Given the description of an element on the screen output the (x, y) to click on. 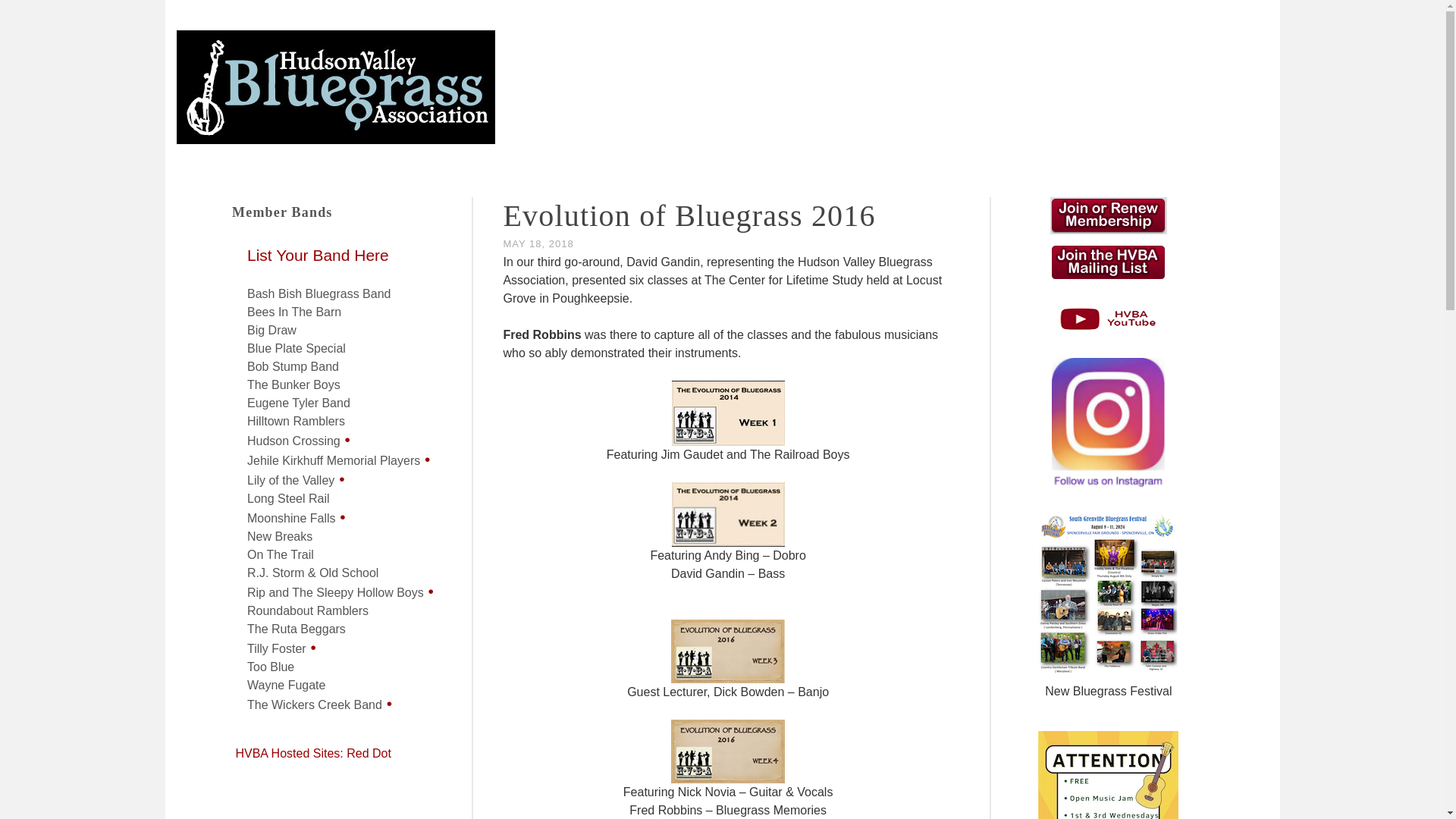
Media (657, 196)
About HVBA (944, 196)
Home (435, 196)
Membership (748, 196)
Resources (847, 196)
Articles (509, 196)
Events (585, 196)
